Given the description of an element on the screen output the (x, y) to click on. 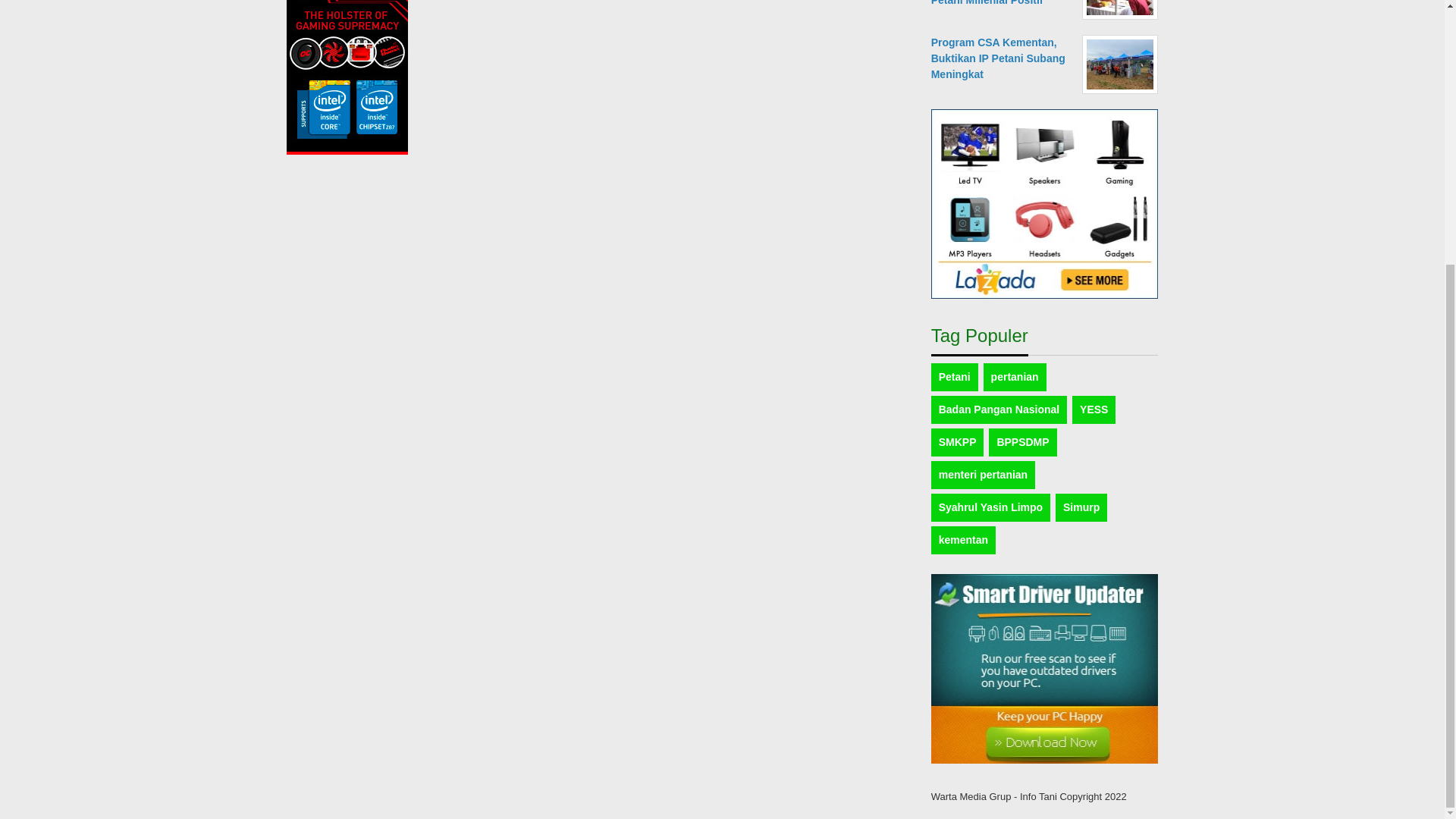
Simurp (1080, 507)
Syahrul Yasin Limpo (990, 507)
YESS (1093, 409)
kementan (963, 540)
Badan Pangan Nasional (999, 409)
pertanian (1015, 377)
SMKPP (957, 442)
Petani (954, 377)
BPPSDMP (1022, 442)
Program CSA Kementan, Buktikan IP Petani Subang Meningkat (998, 58)
menteri pertanian (983, 474)
